Given the description of an element on the screen output the (x, y) to click on. 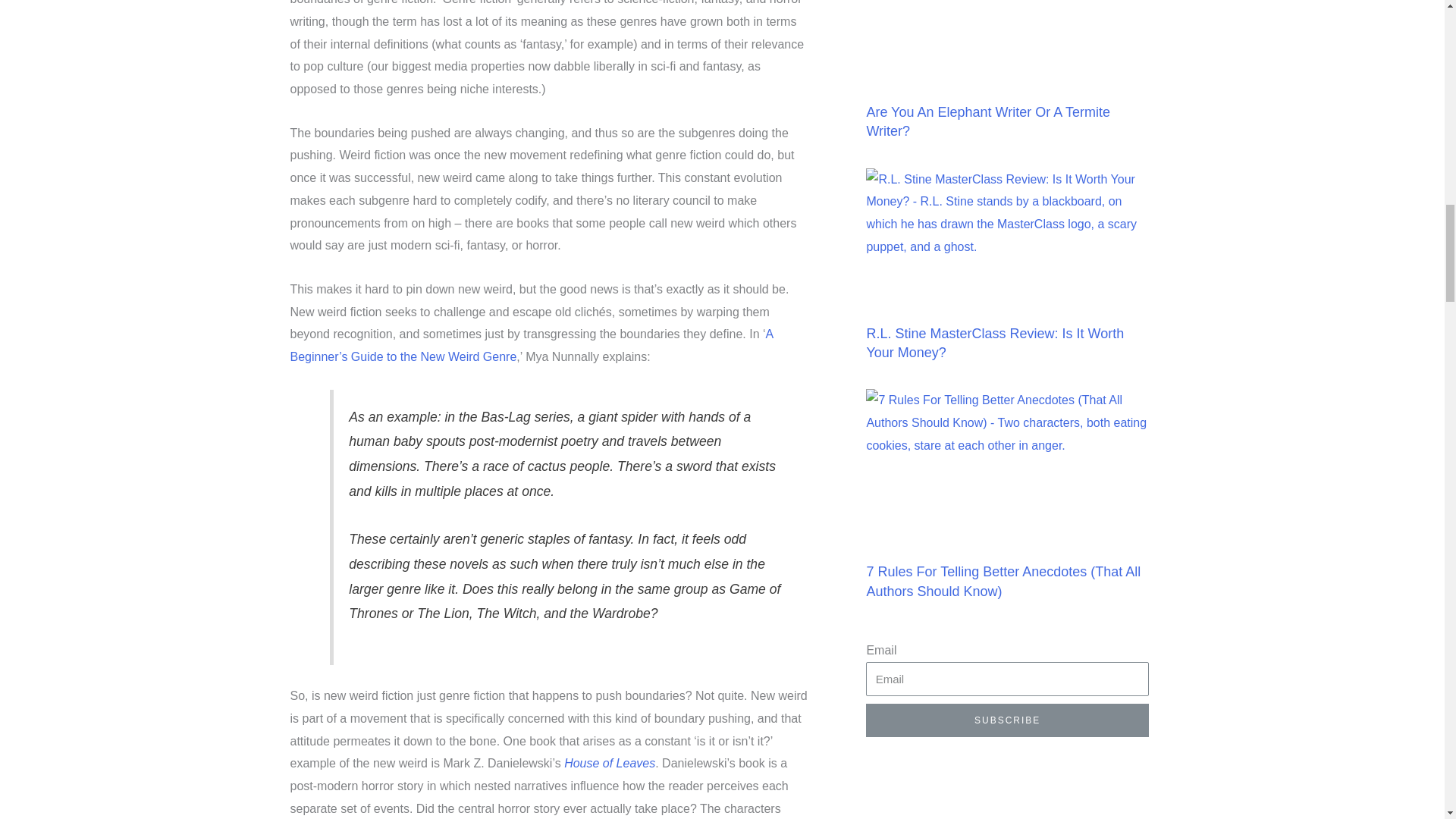
House of Leaves (609, 762)
